Given the description of an element on the screen output the (x, y) to click on. 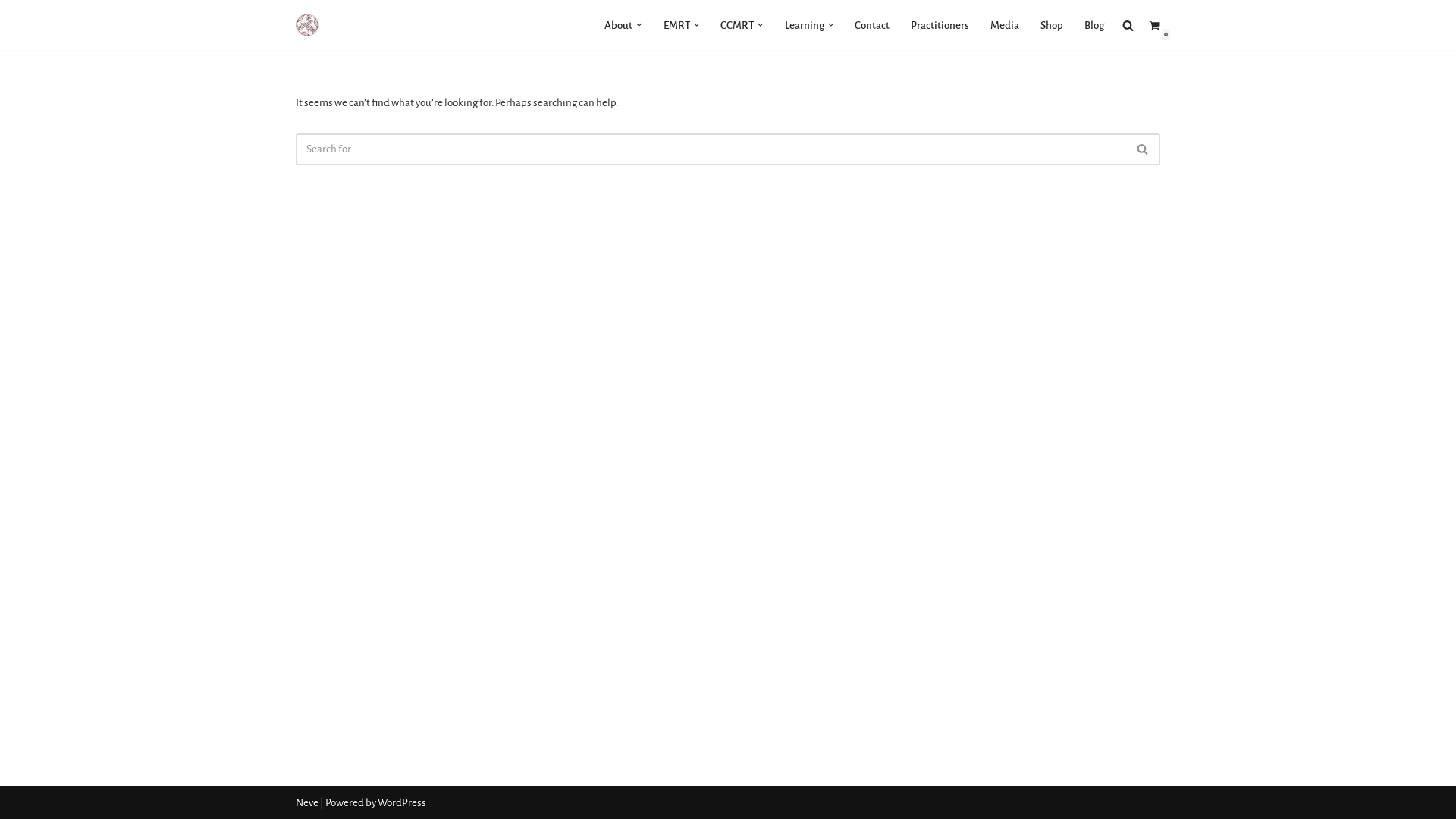
Shop Element type: text (1051, 24)
Contact Element type: text (871, 24)
WordPress Element type: text (401, 801)
Media Element type: text (1004, 24)
Blog Element type: text (1094, 24)
EMRT Element type: text (675, 24)
CCMRT Element type: text (736, 24)
Learning Element type: text (803, 24)
Practitioners Element type: text (939, 24)
Neve Element type: text (306, 801)
0 Element type: text (1154, 24)
Skip to content Element type: text (11, 31)
About Element type: text (618, 24)
